Given the description of an element on the screen output the (x, y) to click on. 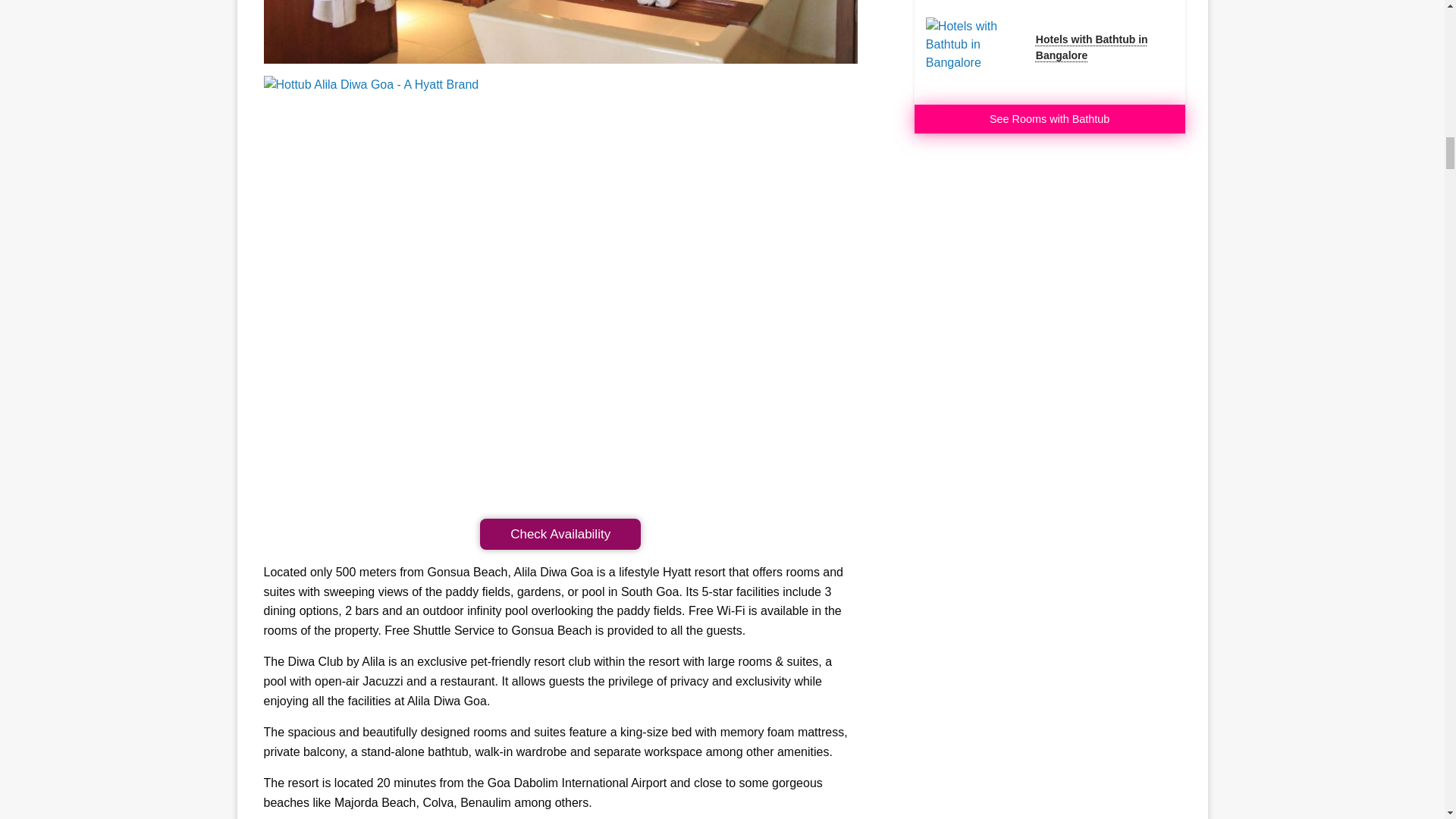
Alila Diwa Goa - A Hyatt Brand with Bathtub Room (560, 31)
Check Availability (560, 534)
